Given the description of an element on the screen output the (x, y) to click on. 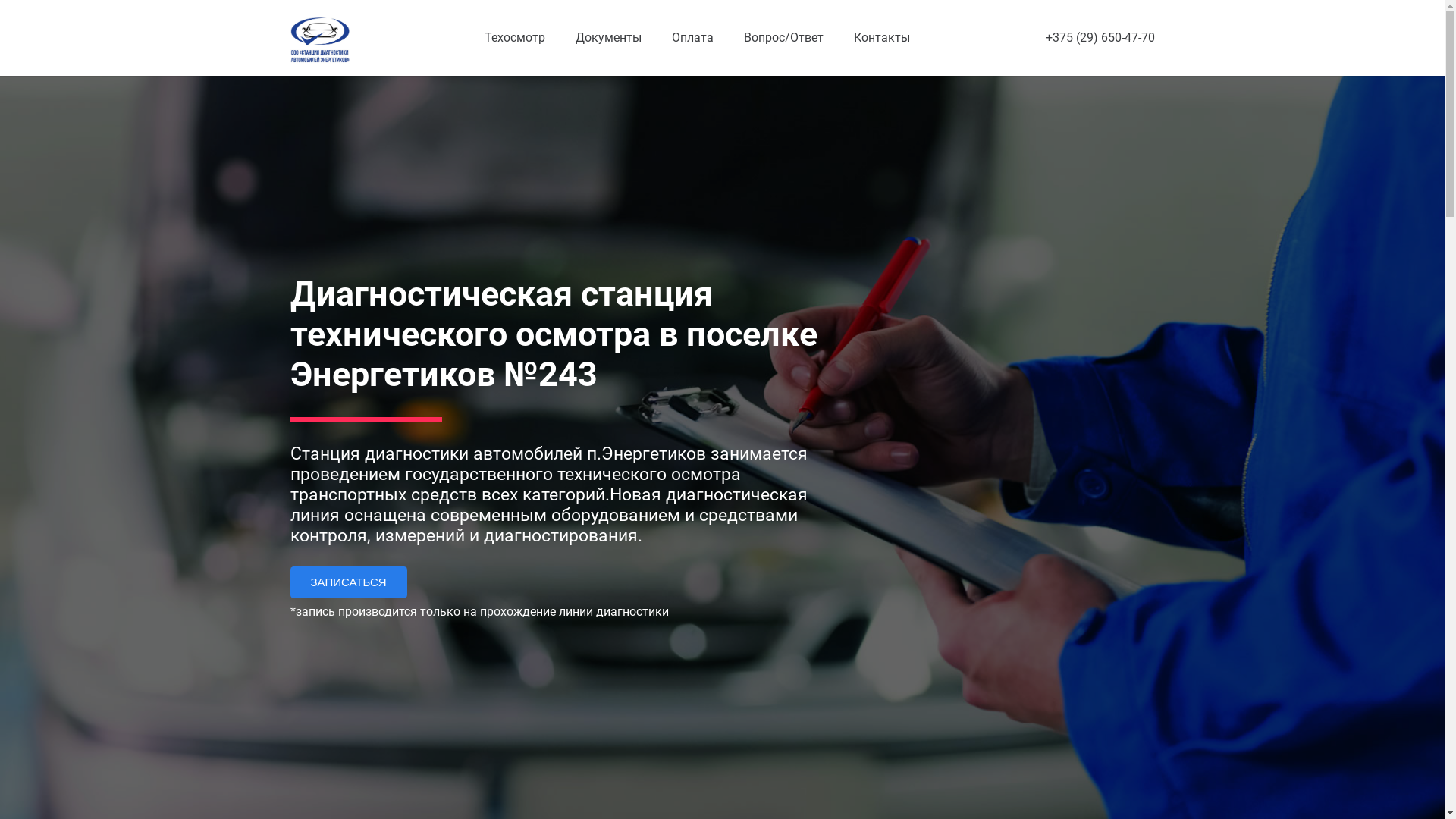
+375 (29) 650-47-70 Element type: text (1099, 37)
